Given the description of an element on the screen output the (x, y) to click on. 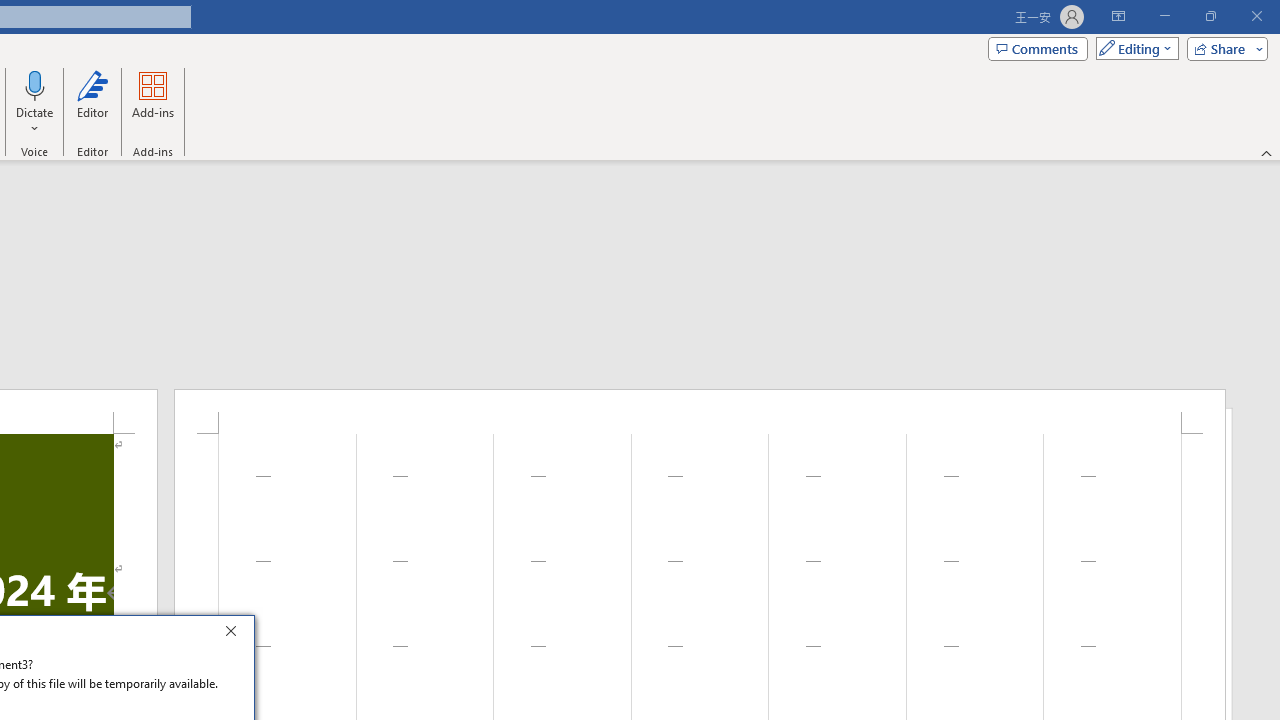
Collapse the Ribbon (1267, 152)
